Given the description of an element on the screen output the (x, y) to click on. 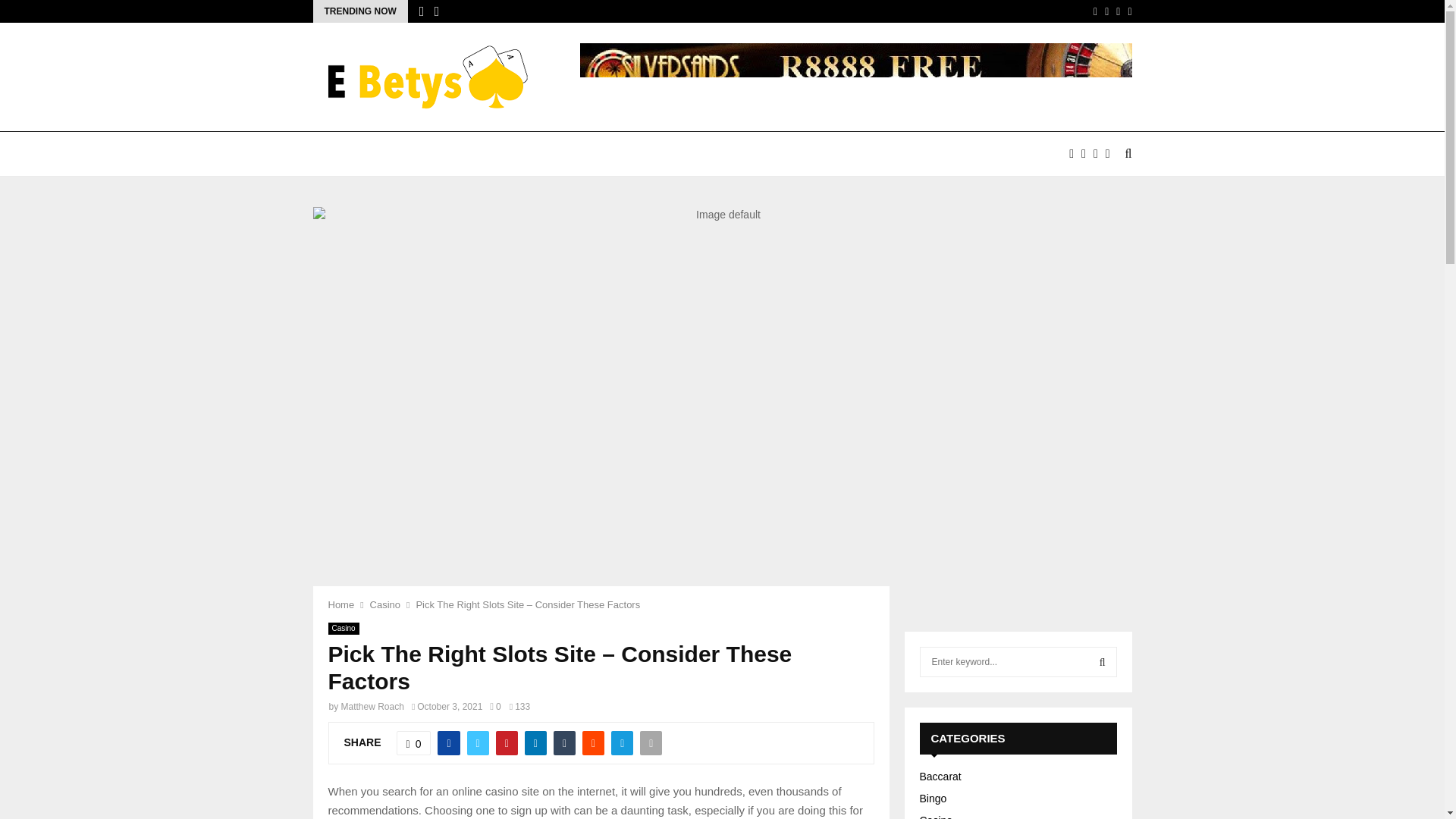
Like (413, 743)
Casino (342, 628)
0 (413, 743)
Casino (384, 604)
BINGO (648, 153)
GAMBLING (574, 153)
POKER (499, 153)
0 (494, 706)
Home (340, 604)
BACCARAT (355, 153)
